Given the description of an element on the screen output the (x, y) to click on. 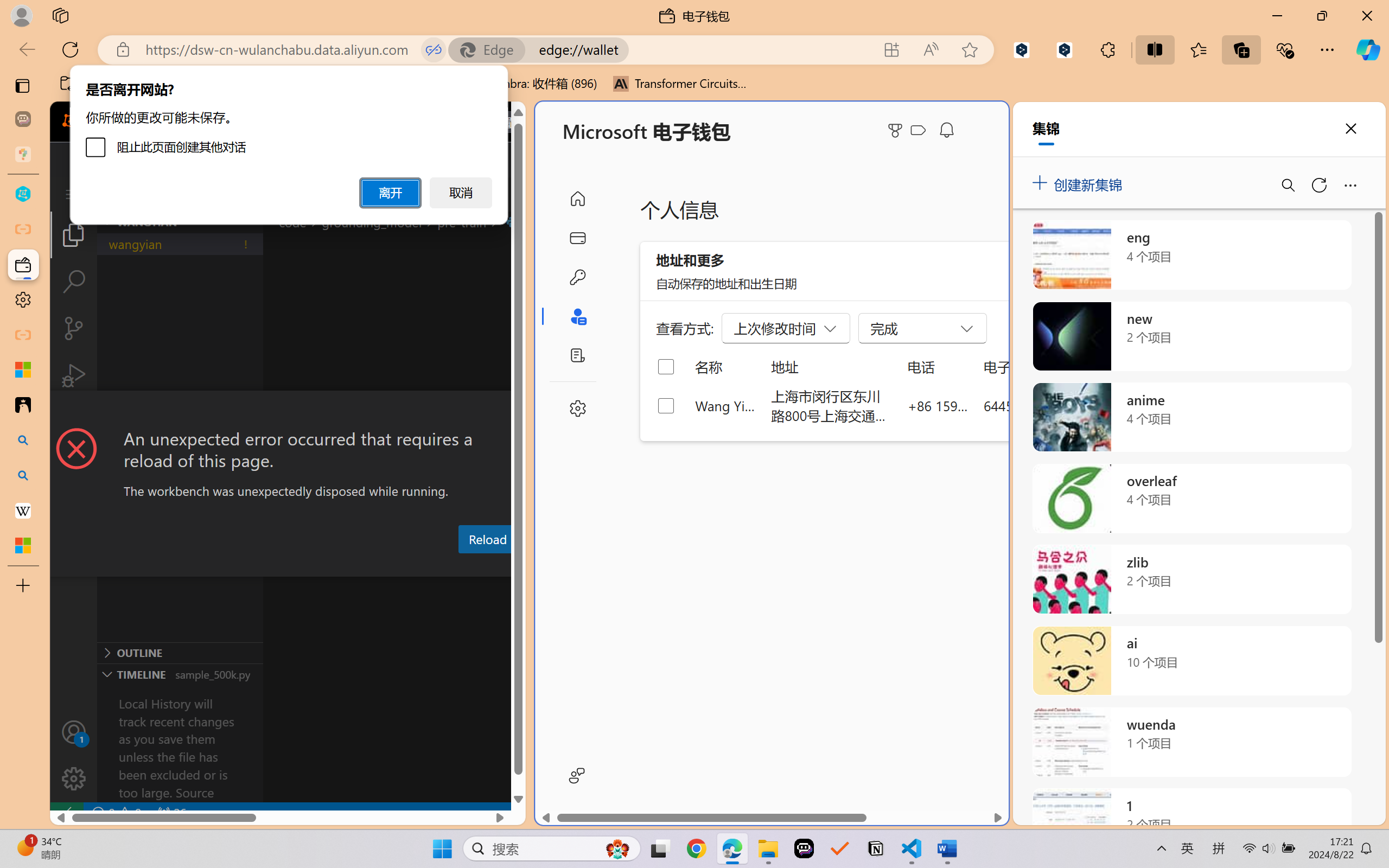
Microsoft Cashback (920, 130)
Reload (486, 538)
Accounts - Sign in requested (73, 732)
Manage (73, 778)
